Given the description of an element on the screen output the (x, y) to click on. 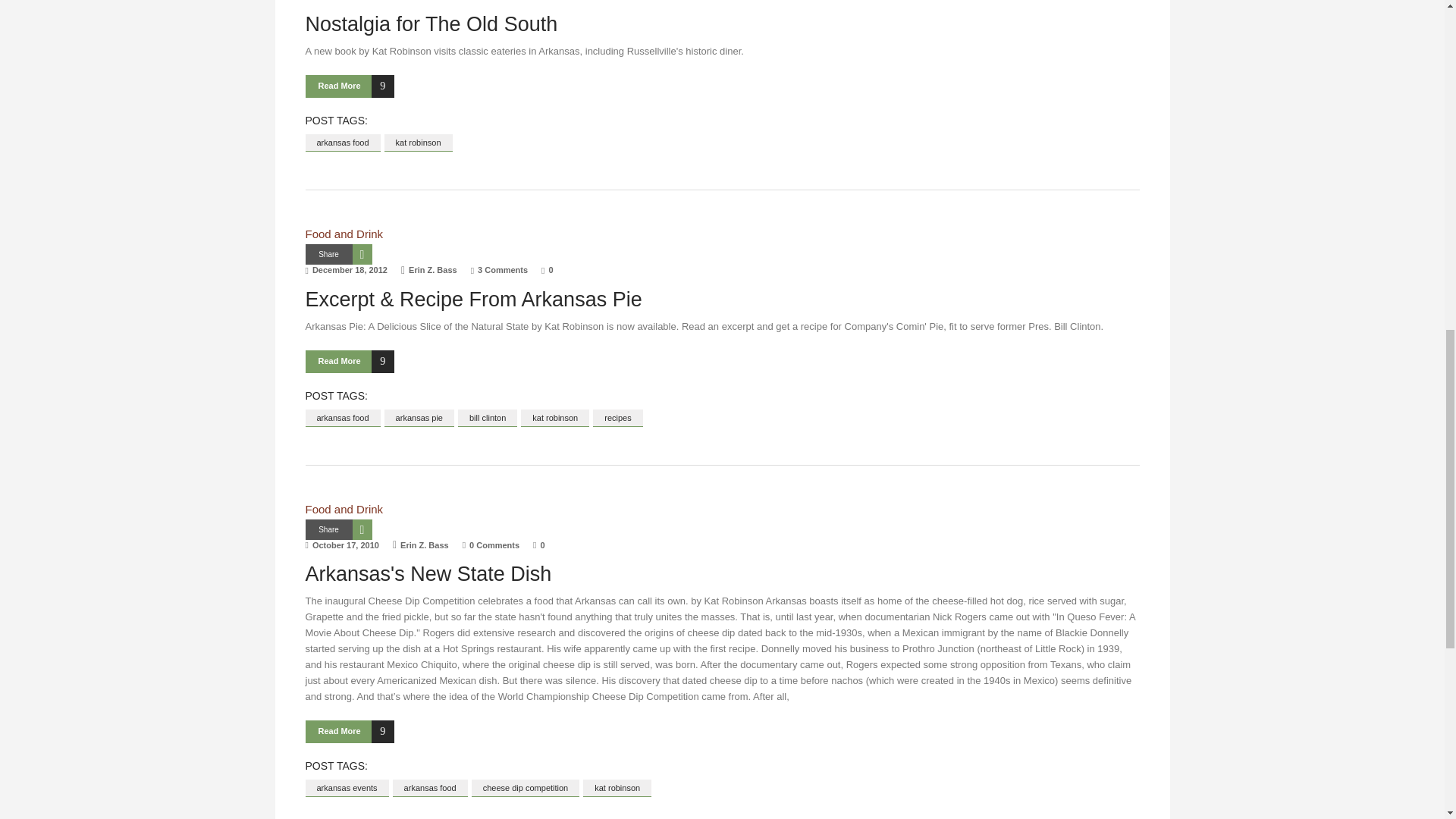
Like this (538, 544)
Like this (547, 269)
Arkansas's New State Dish (427, 573)
Nostalgia for The Old South (430, 24)
